Given the description of an element on the screen output the (x, y) to click on. 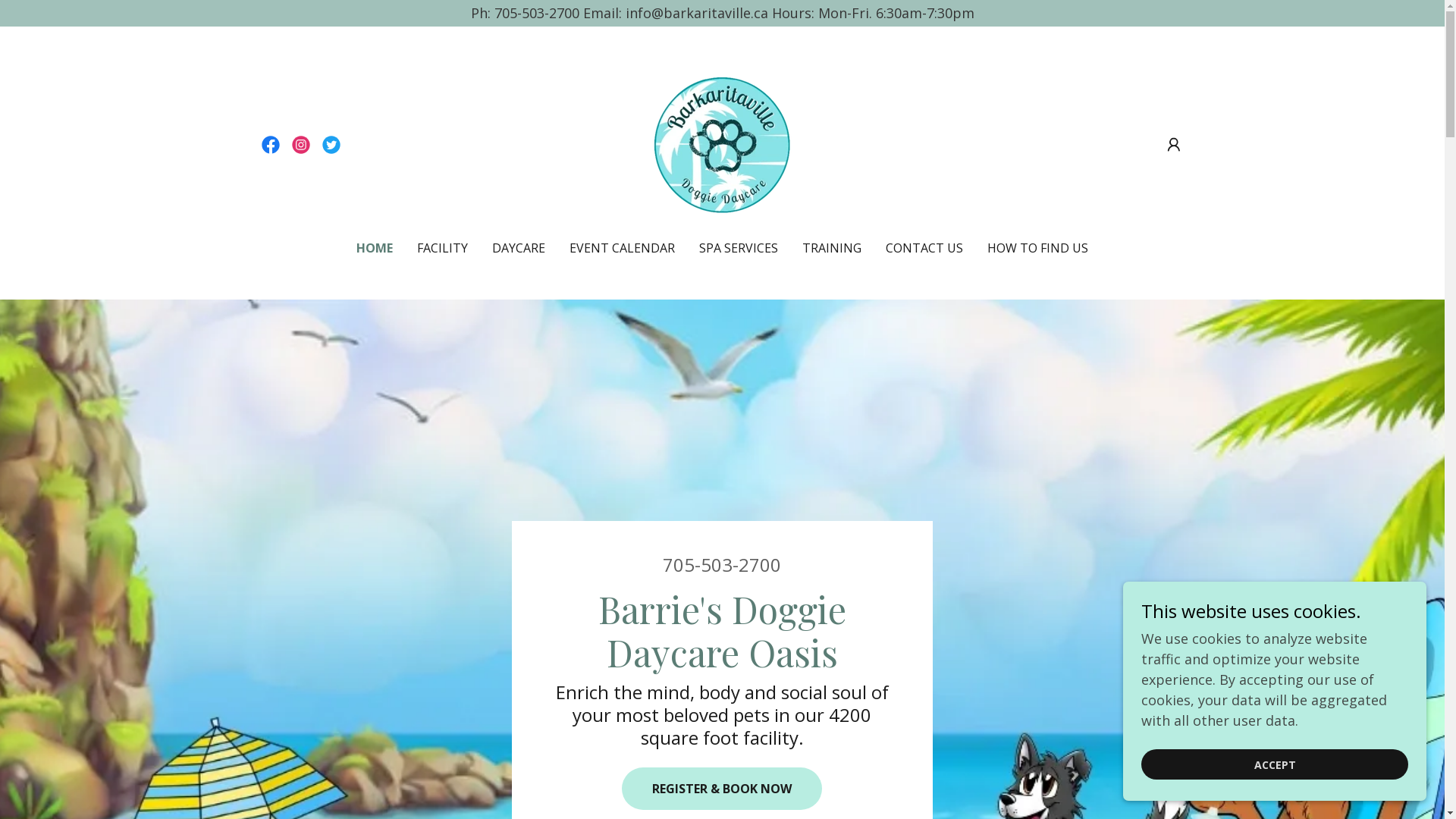
FACILITY Element type: text (442, 247)
EVENT CALENDAR Element type: text (621, 247)
DAYCARE Element type: text (518, 247)
Barkaritaville Barrie Element type: hover (721, 143)
HOME Element type: text (374, 247)
REGISTER & BOOK NOW Element type: text (721, 788)
705-503-2700 Element type: text (721, 564)
TRAINING Element type: text (831, 247)
CONTACT US Element type: text (924, 247)
HOW TO FIND US Element type: text (1037, 247)
ACCEPT Element type: text (1274, 764)
SPA SERVICES Element type: text (738, 247)
